Given the description of an element on the screen output the (x, y) to click on. 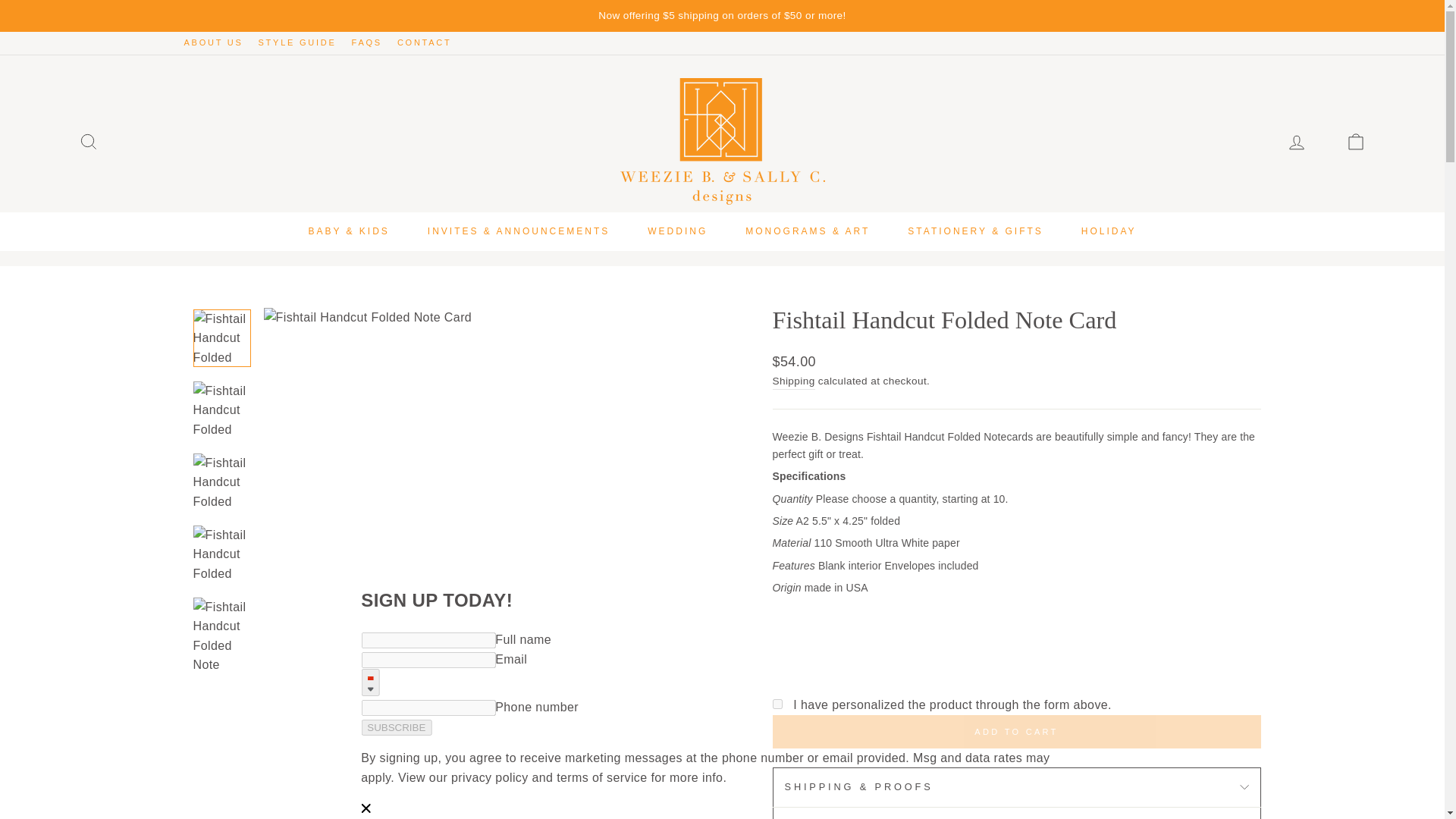
on (776, 704)
